Given the description of an element on the screen output the (x, y) to click on. 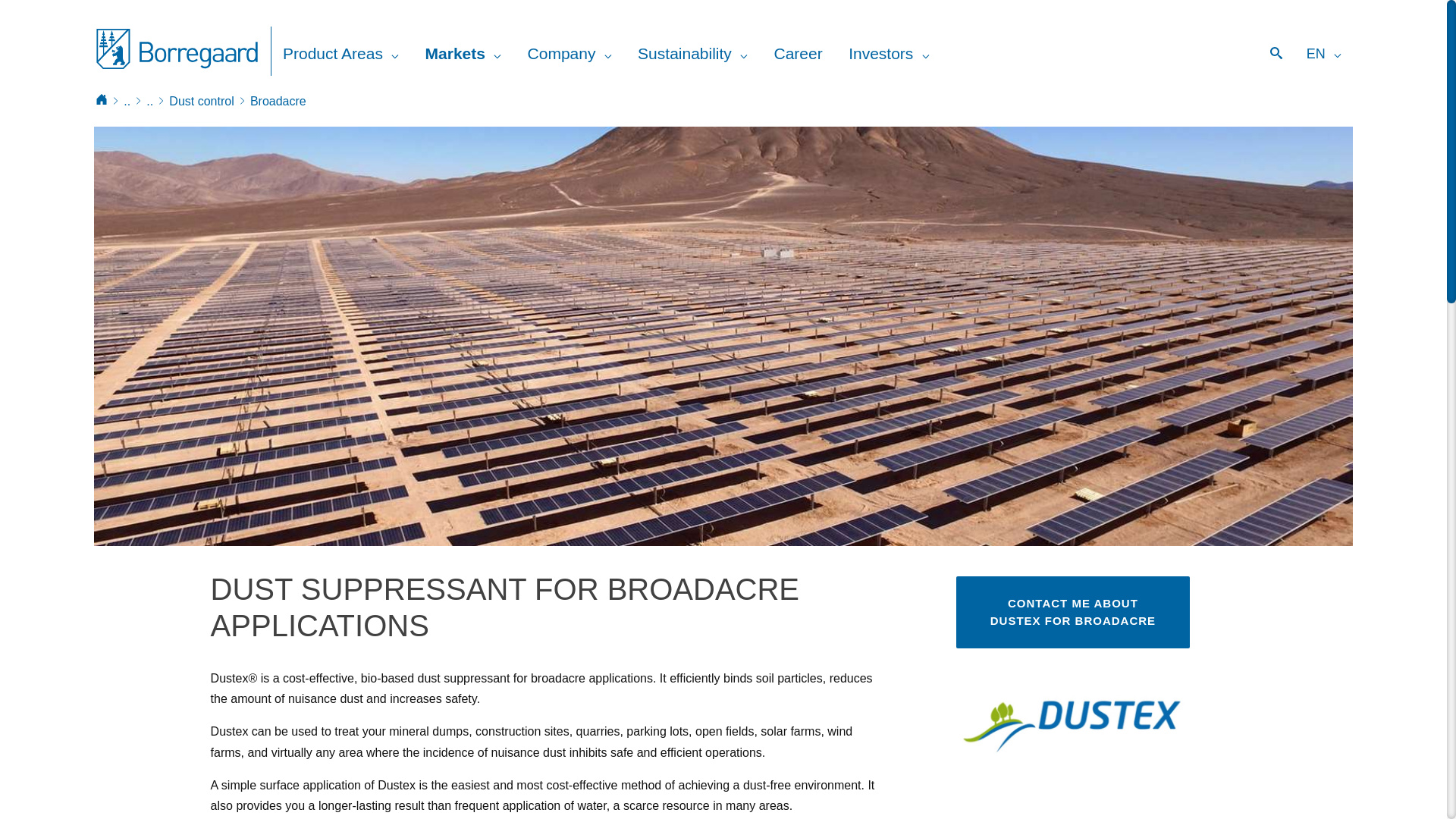
Markets (463, 53)
Product Areas (340, 53)
Company (569, 53)
